Given the description of an element on the screen output the (x, y) to click on. 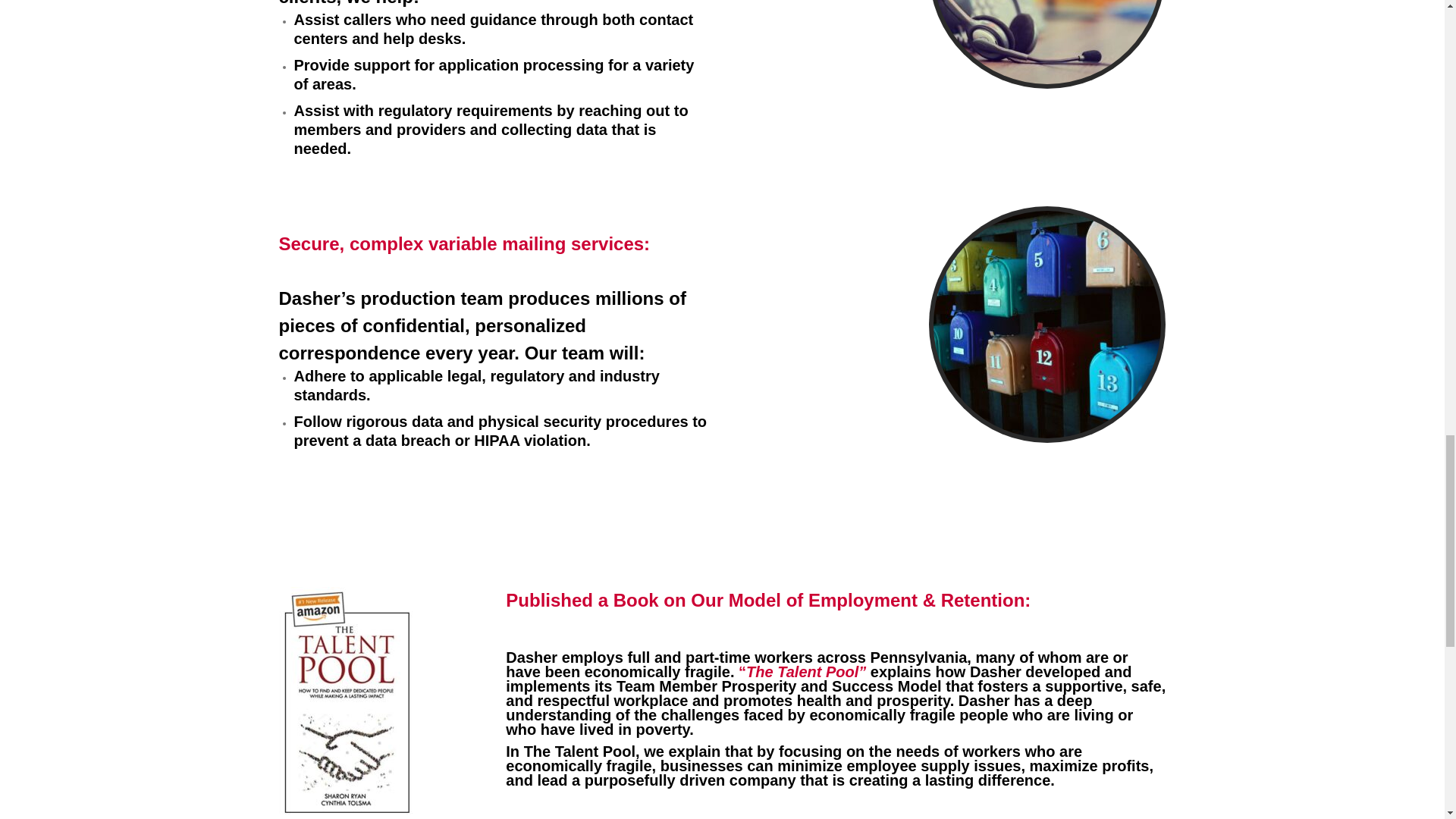
qtq80-7lxrtM (1046, 42)
qtq80-OBl3ib (1046, 324)
